Given the description of an element on the screen output the (x, y) to click on. 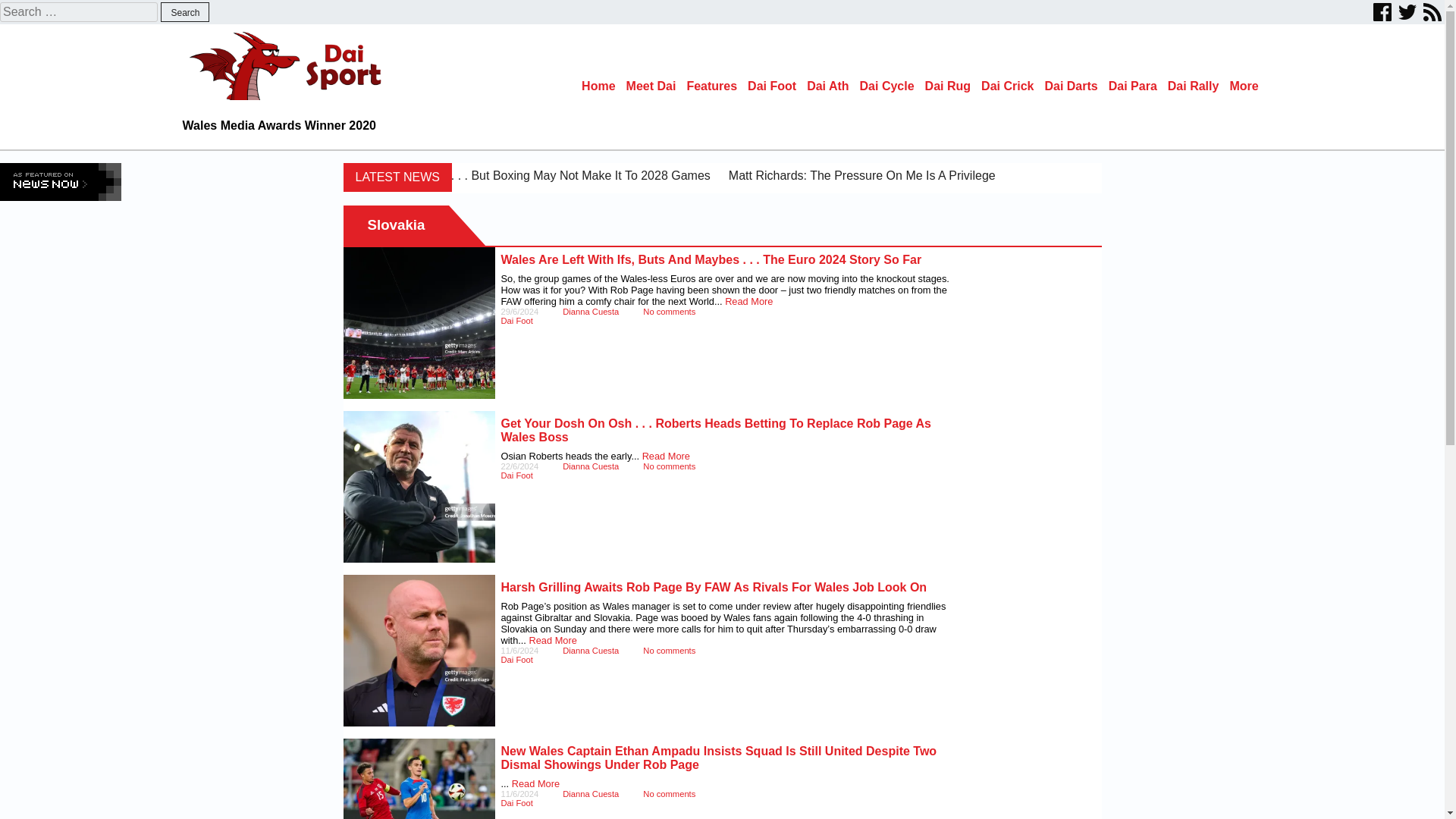
Search (184, 12)
Search (184, 12)
Click here for more Welsh Sport news from NewsNow (60, 181)
